Given the description of an element on the screen output the (x, y) to click on. 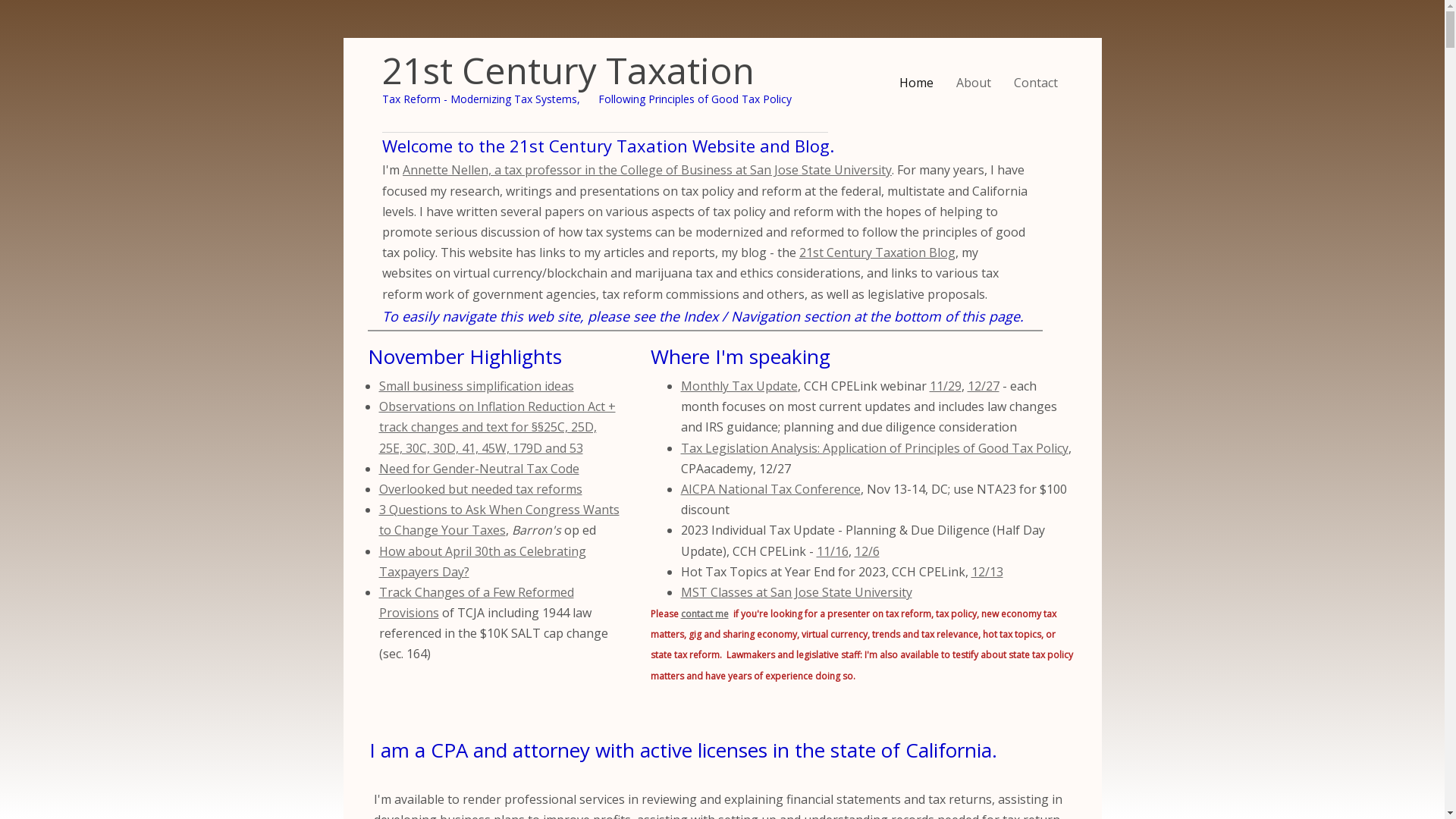
About Element type: text (973, 82)
contact me Element type: text (704, 613)
Track Changes of a Few Reformed Provisions Element type: text (476, 602)
Need for Gender-Neutral Tax Code Element type: text (479, 468)
12/13 Element type: text (986, 571)
11/29 Element type: text (945, 385)
Home Element type: text (915, 82)
Monthly Tax Update Element type: text (738, 385)
21st Century Taxation Blog Element type: text (877, 252)
MST Classes at San Jose State University Element type: text (796, 591)
How about April 30th as Celebrating Taxpayers Day? Element type: text (482, 561)
Contact Element type: text (1035, 82)
12/6 Element type: text (865, 550)
Small business simplification ideas Element type: text (476, 385)
12/27 Element type: text (983, 385)
Overlooked but needed tax reforms Element type: text (480, 488)
11/16 Element type: text (831, 550)
3 Questions to Ask When Congress Wants to Change Your Taxes Element type: text (499, 519)
AICPA National Tax Conference Element type: text (770, 488)
